Given the description of an element on the screen output the (x, y) to click on. 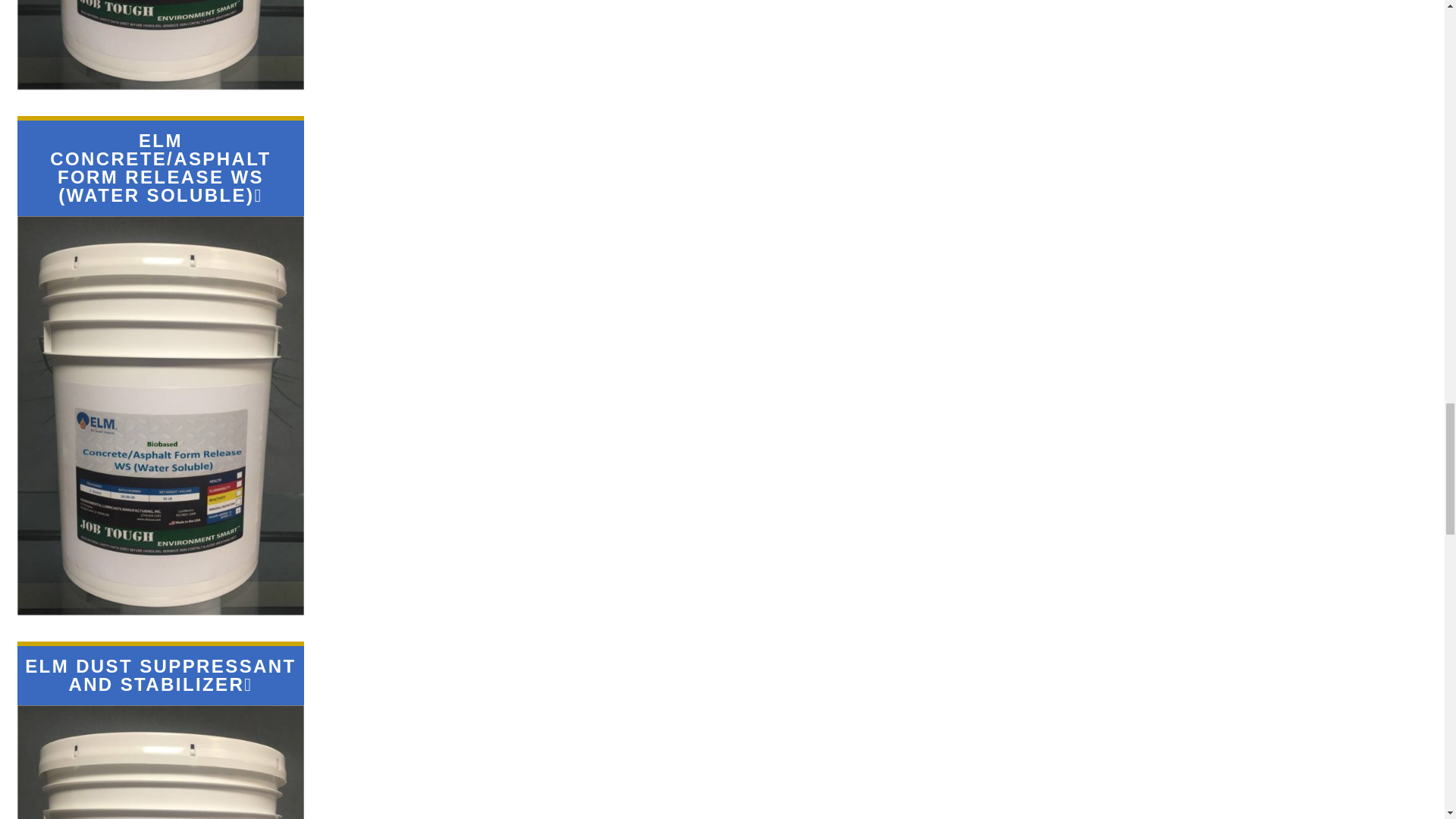
ELM DUST SUPPRESSANT AND STABILIZER (159, 675)
